Given the description of an element on the screen output the (x, y) to click on. 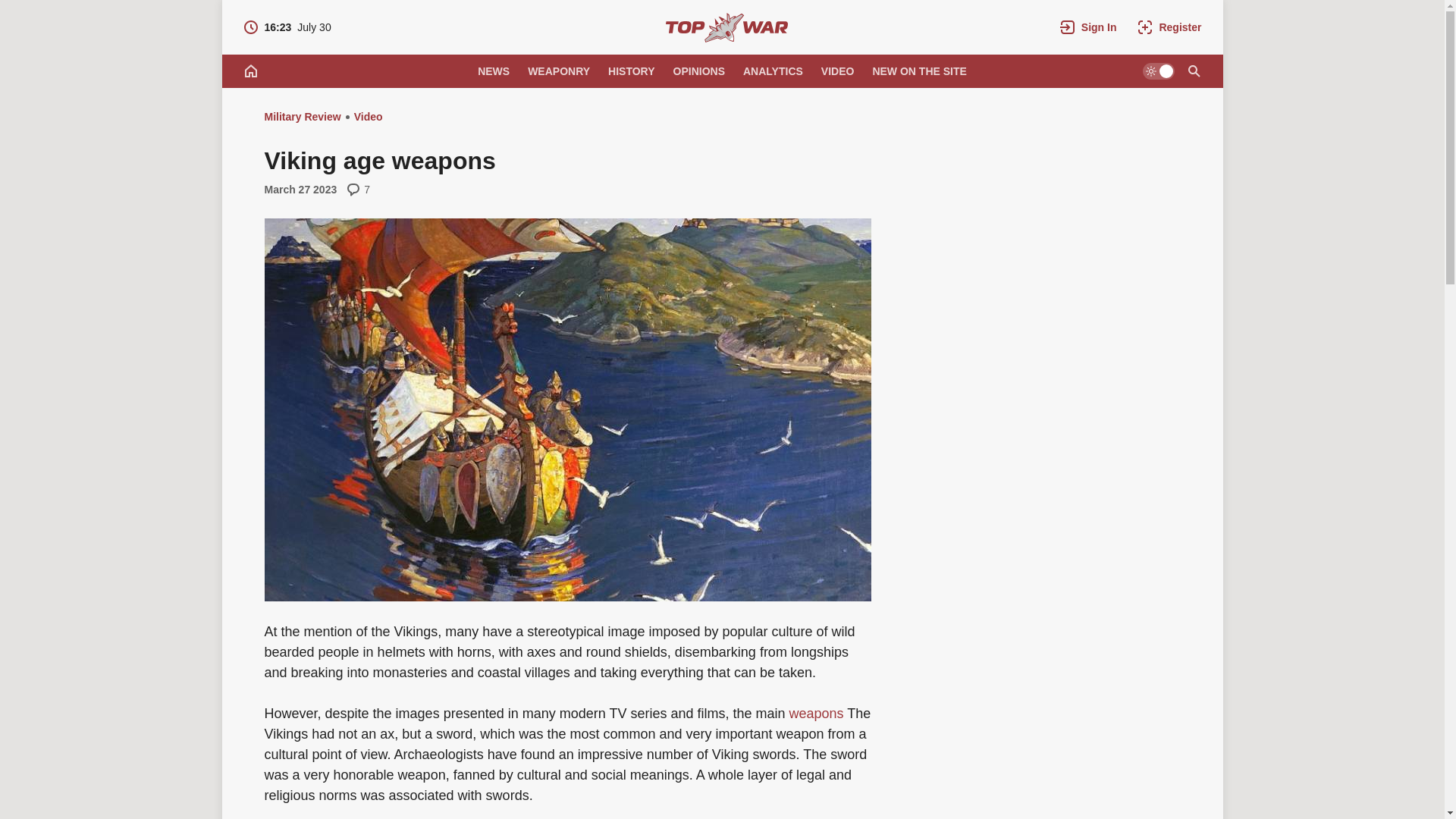
Sign In (286, 27)
Military Review (1088, 27)
OPINIONS (726, 27)
weapon (698, 70)
ANALYTICS (816, 713)
WEAPONRY (772, 70)
Military Review (558, 70)
NEWS (301, 116)
VIDEO (493, 70)
Site search (837, 70)
Register (1192, 70)
HISTORY (1168, 27)
NEW ON THE SITE (630, 70)
